Given the description of an element on the screen output the (x, y) to click on. 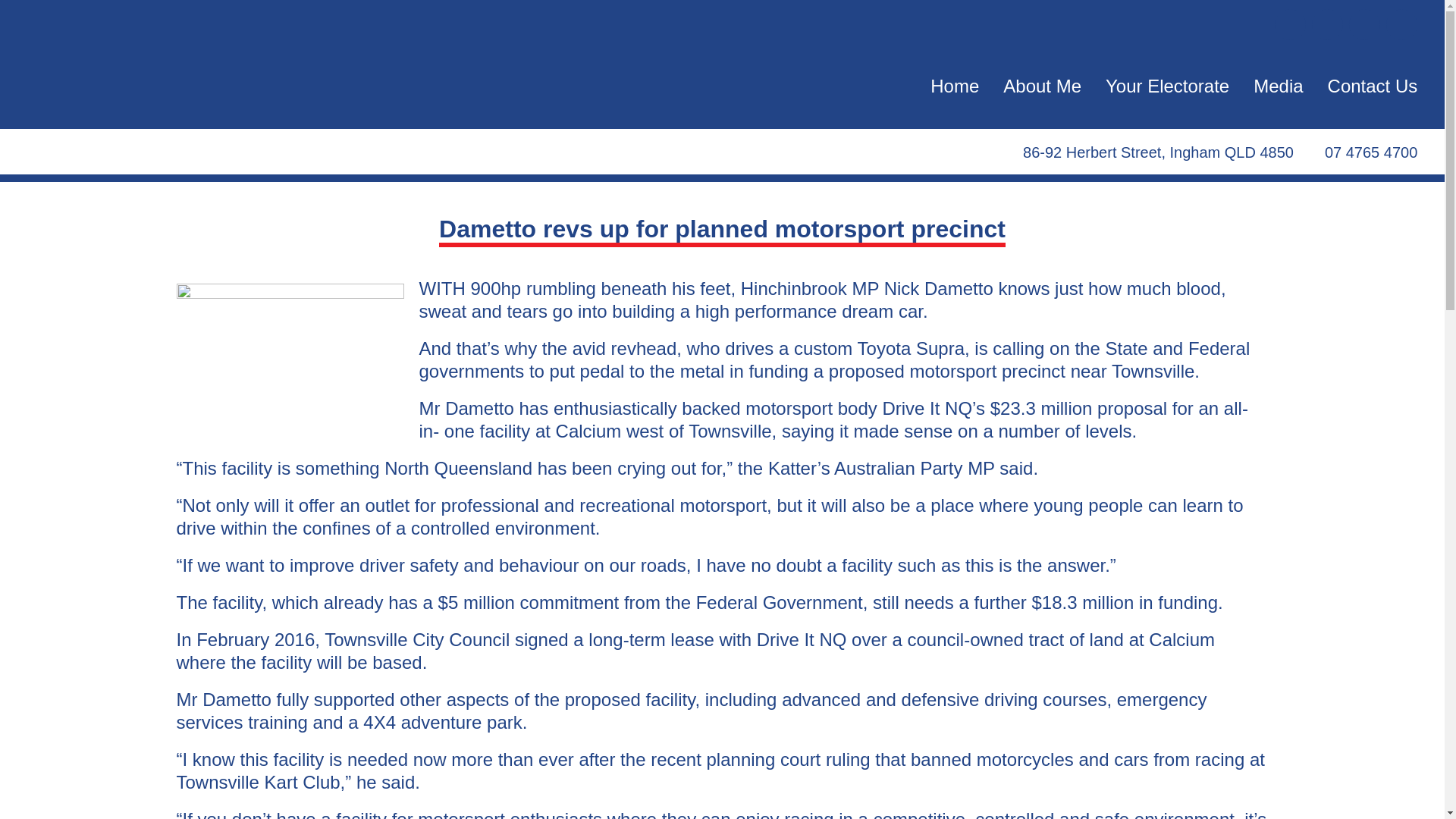
Your Electorate (1166, 86)
Home (954, 86)
Contact Us (1372, 86)
Media (1278, 86)
86-92 Herbert Street, Ingham QLD 4850 (1144, 152)
07 4765 4700 (1359, 152)
About Me (1042, 86)
